Given the description of an element on the screen output the (x, y) to click on. 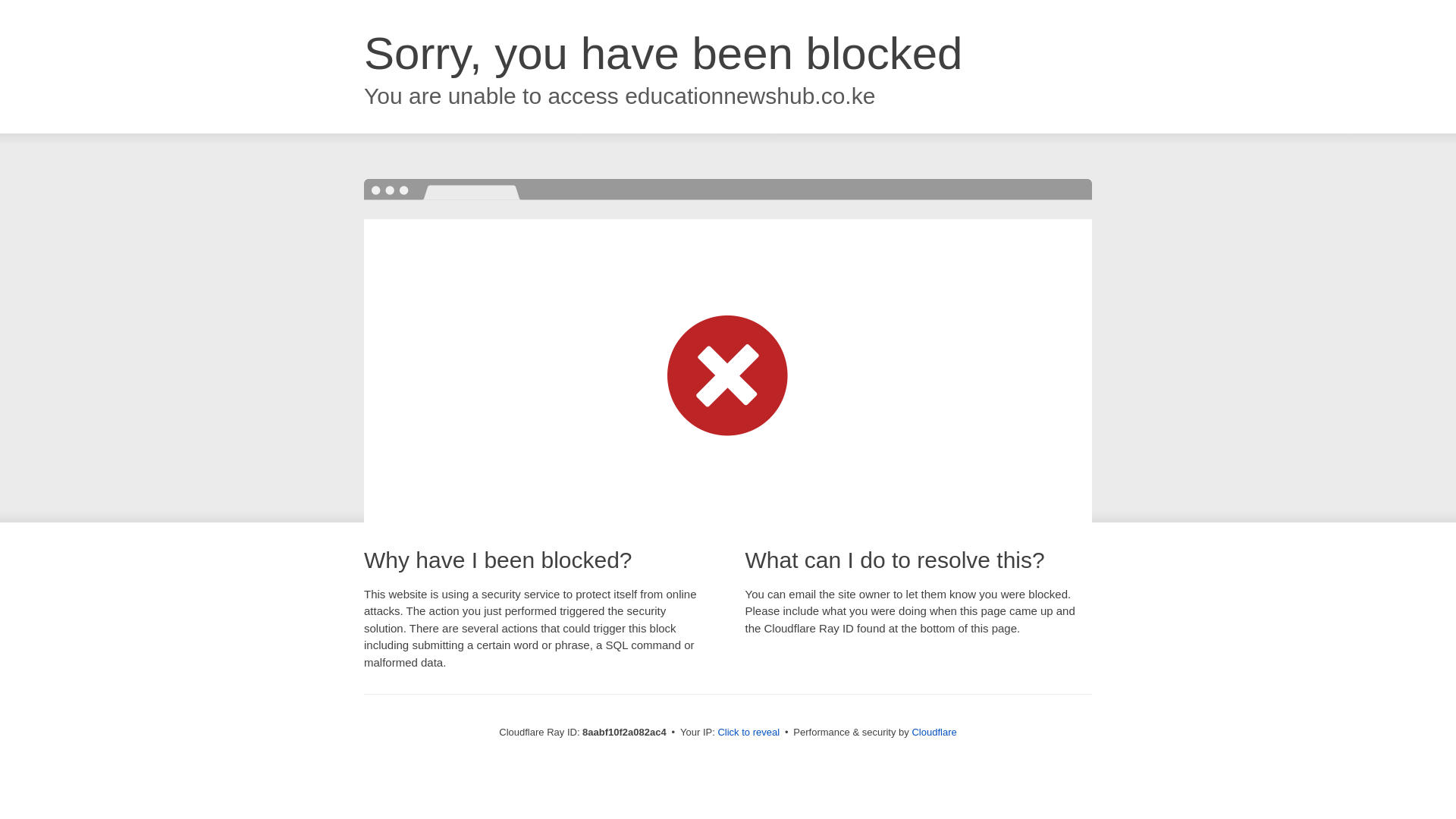
Cloudflare (933, 731)
Click to reveal (747, 732)
